Given the description of an element on the screen output the (x, y) to click on. 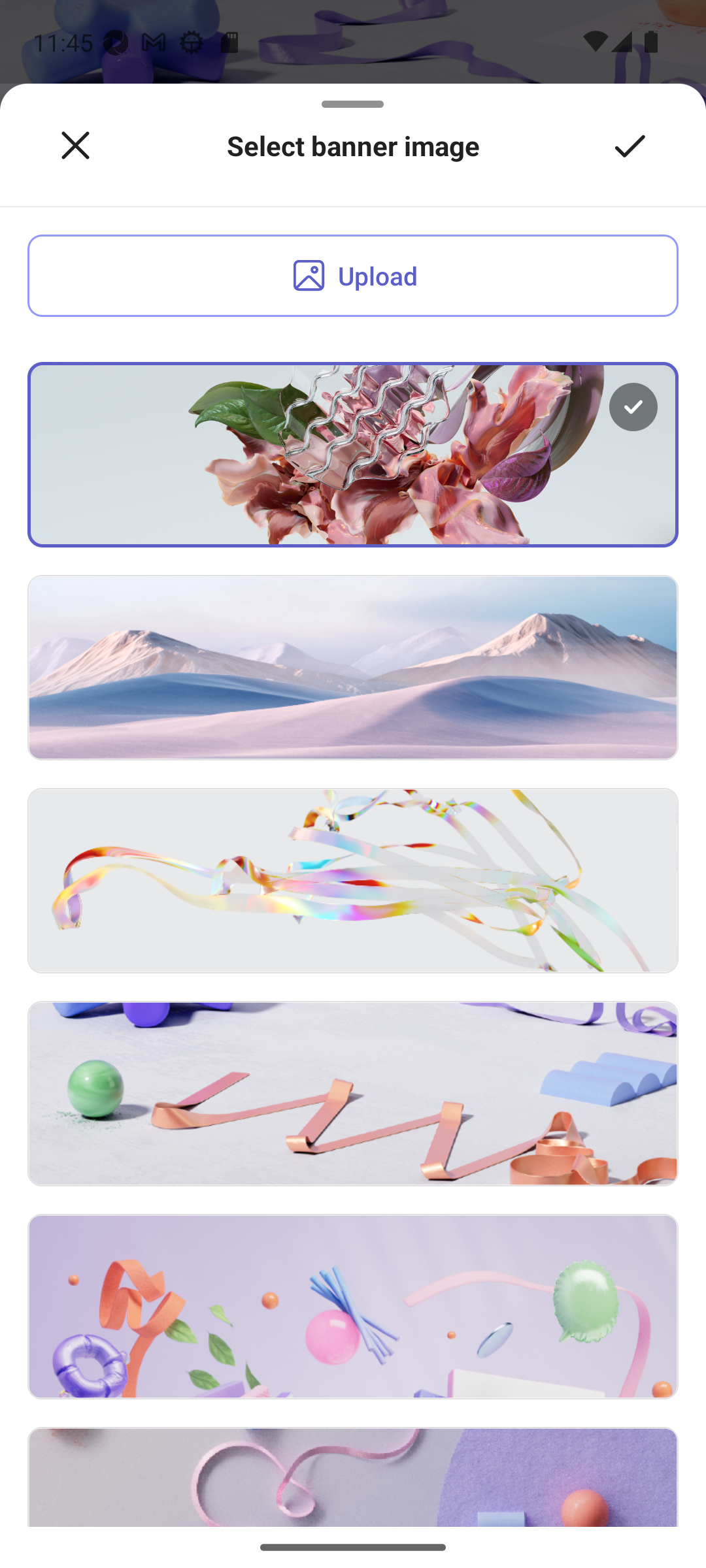
Cancel (75, 145)
Save (630, 145)
Upload (352, 275)
